Given the description of an element on the screen output the (x, y) to click on. 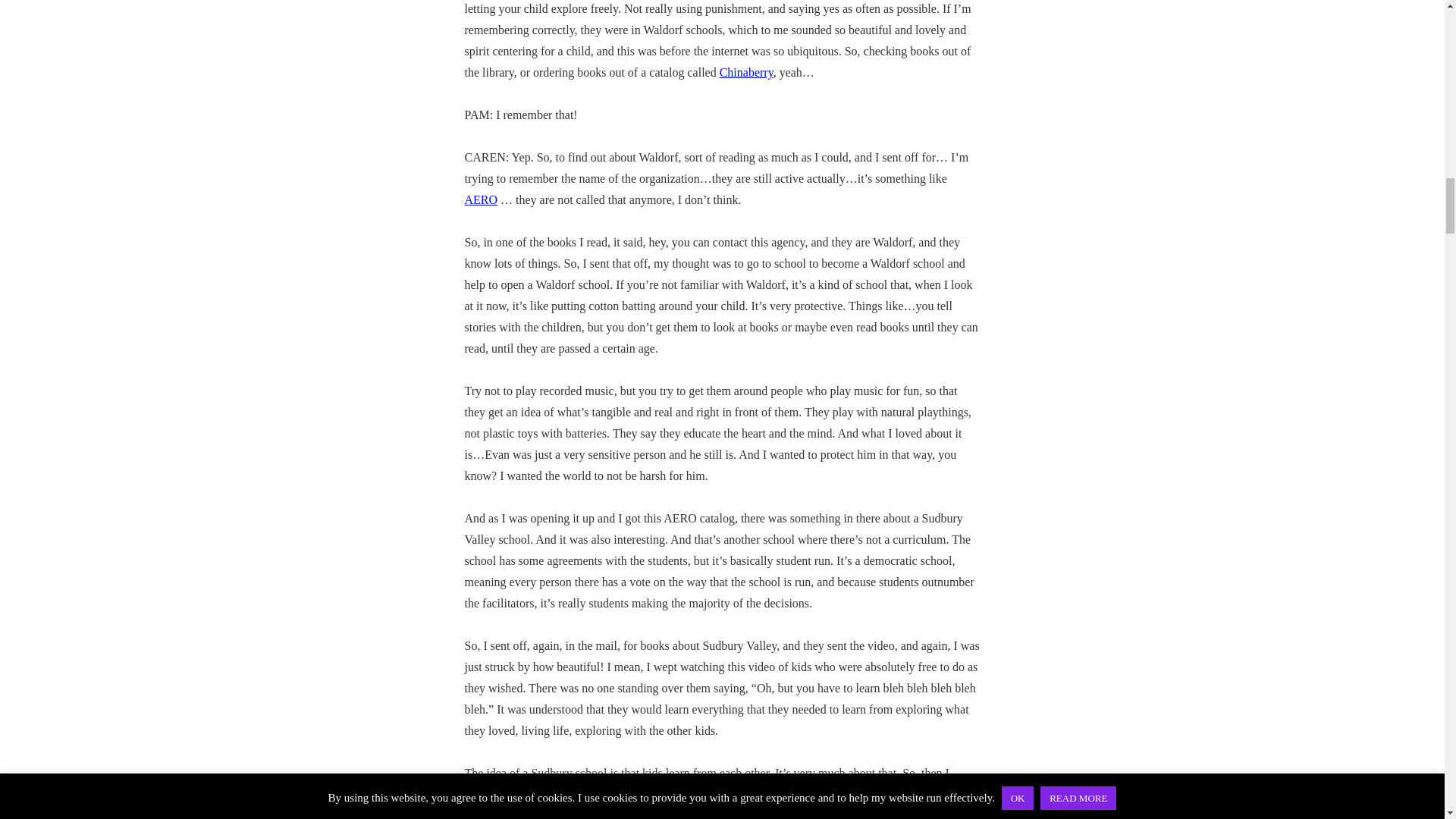
Chinaberry (746, 72)
AERO (480, 199)
